Given the description of an element on the screen output the (x, y) to click on. 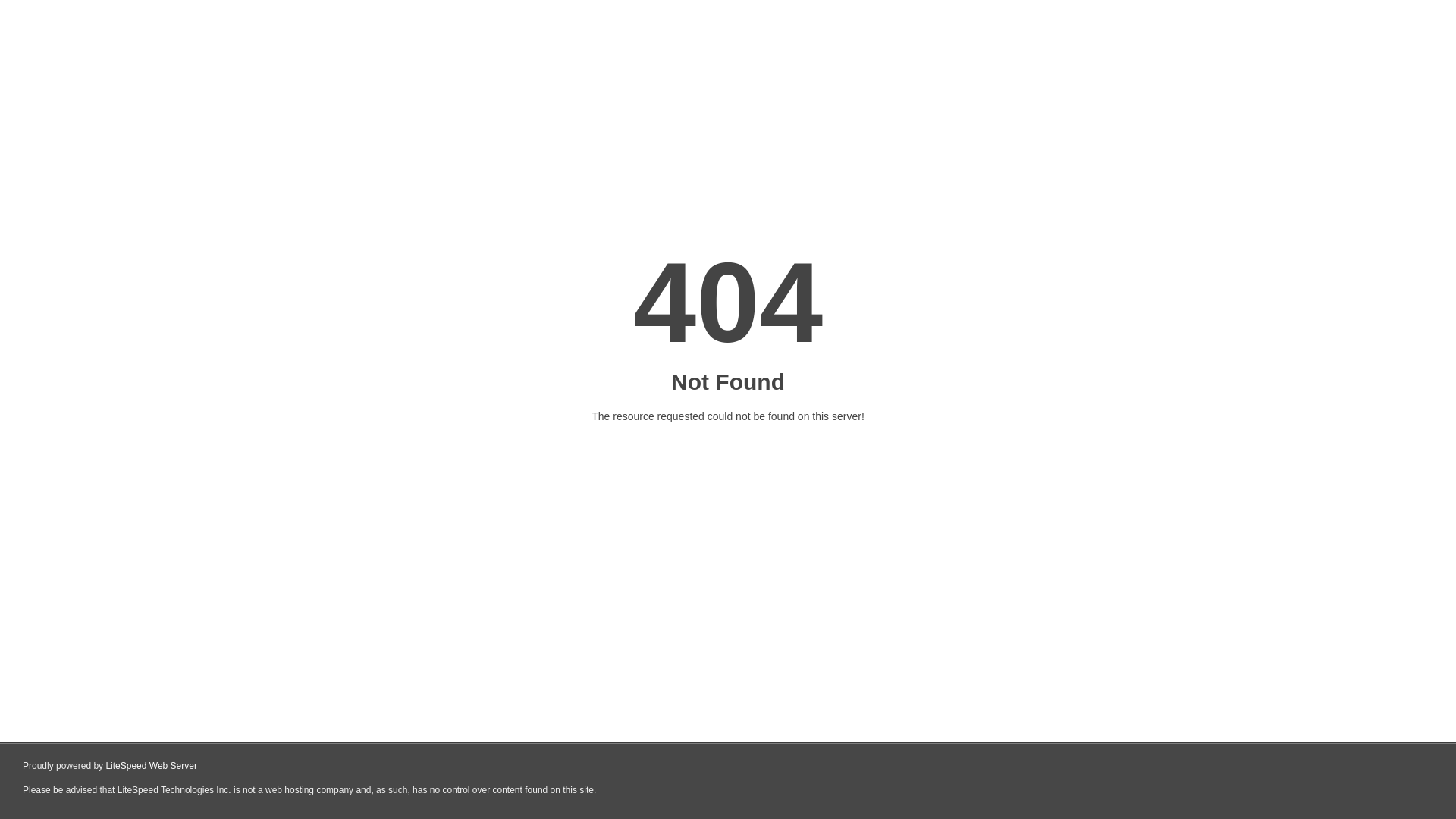
LiteSpeed Web Server Element type: text (151, 765)
